Given the description of an element on the screen output the (x, y) to click on. 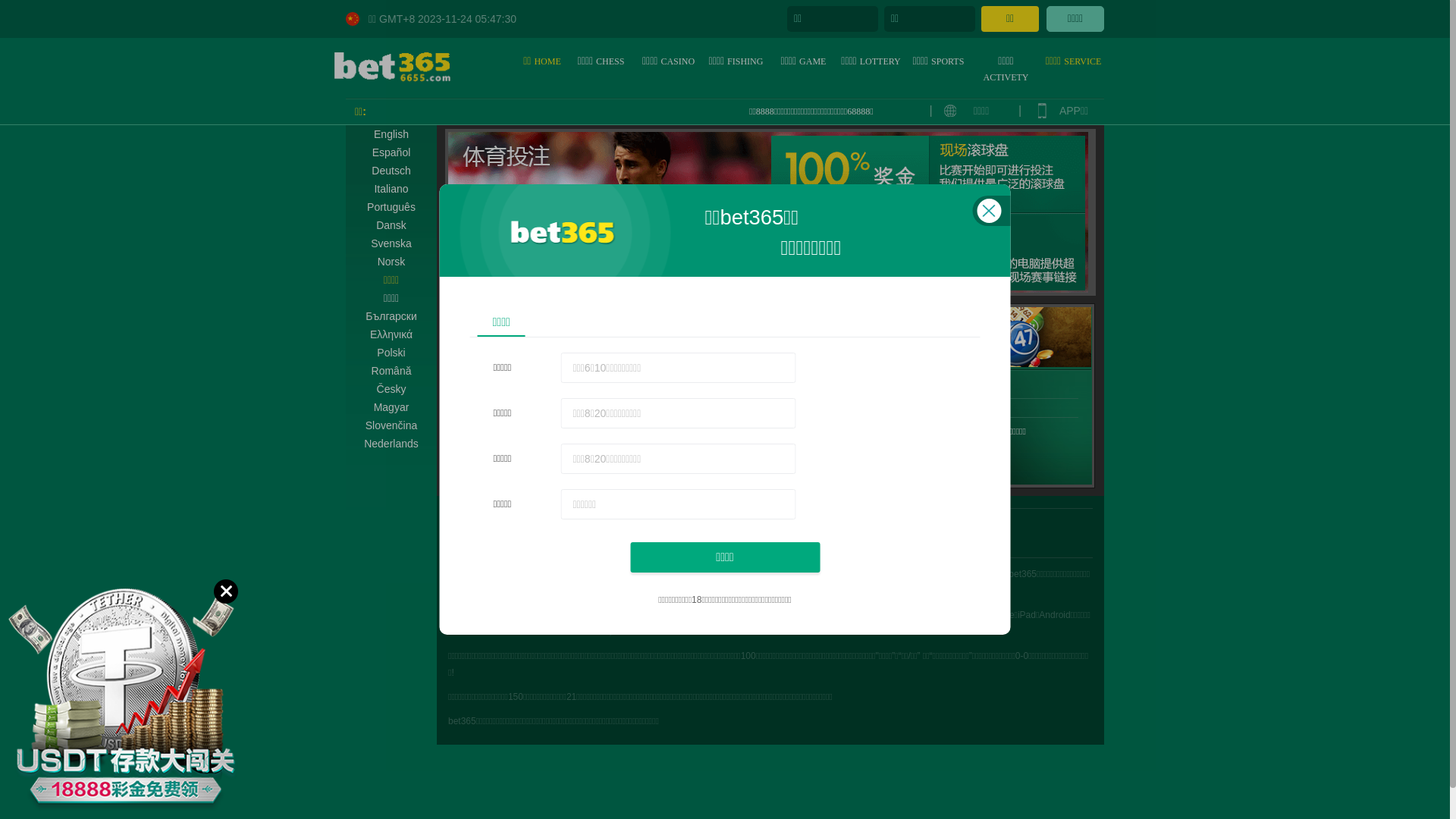
Norsk Element type: text (390, 261)
Nederlands Element type: text (390, 443)
Svenska Element type: text (390, 243)
Italiano Element type: text (390, 188)
Magyar Element type: text (390, 407)
English Element type: text (390, 134)
Deutsch Element type: text (390, 170)
Polski Element type: text (390, 352)
Dansk Element type: text (390, 225)
